Given the description of an element on the screen output the (x, y) to click on. 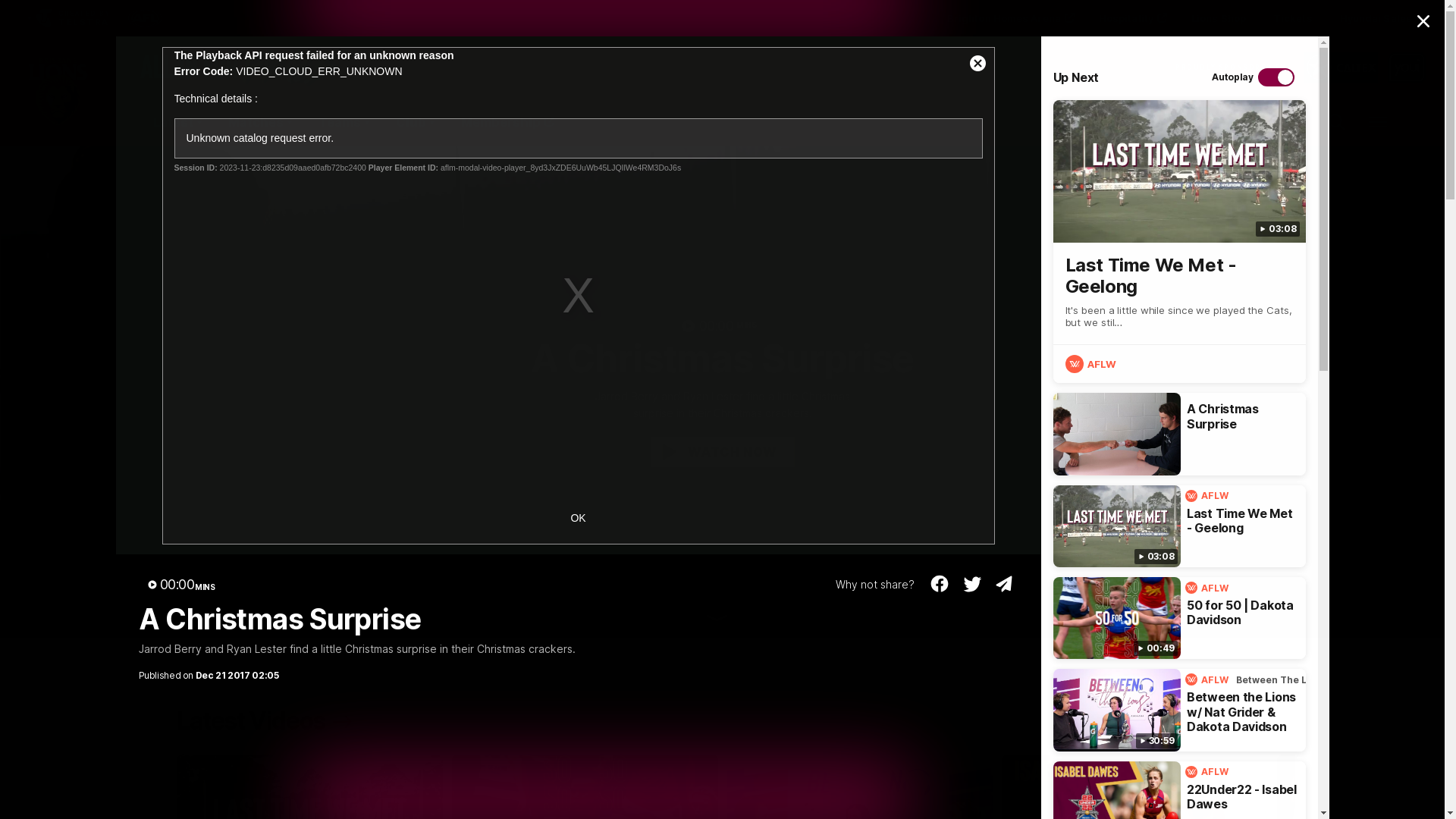
Club Element type: text (414, 121)
Tickets Element type: text (1292, 18)
Hyundai Sales Element type: text (1375, 18)
AFLW Element type: text (1208, 679)
Hospitality Element type: text (1131, 18)
Membership Element type: text (505, 121)
Latest Videos Element type: text (266, 721)
OK Element type: text (577, 518)
Lions Shop Element type: text (1218, 18)
AFLW Element type: text (1208, 495)
Brighton Homes Arena Element type: text (1009, 18)
AFLW Element type: text (1208, 587)
CREATED BY
TELSTRA Element type: text (66, 18)
AFLW Element type: text (1208, 771)
Close Modal Dialog Element type: text (977, 63)
AFLW Element type: text (1091, 363)
Menu Element type: text (1377, 121)
Close Element type: text (1423, 21)
Latest Element type: text (176, 121)
Club Logo Element type: text (57, 121)
Matches Element type: text (259, 121)
Teams Element type: text (343, 121)
